Given the description of an element on the screen output the (x, y) to click on. 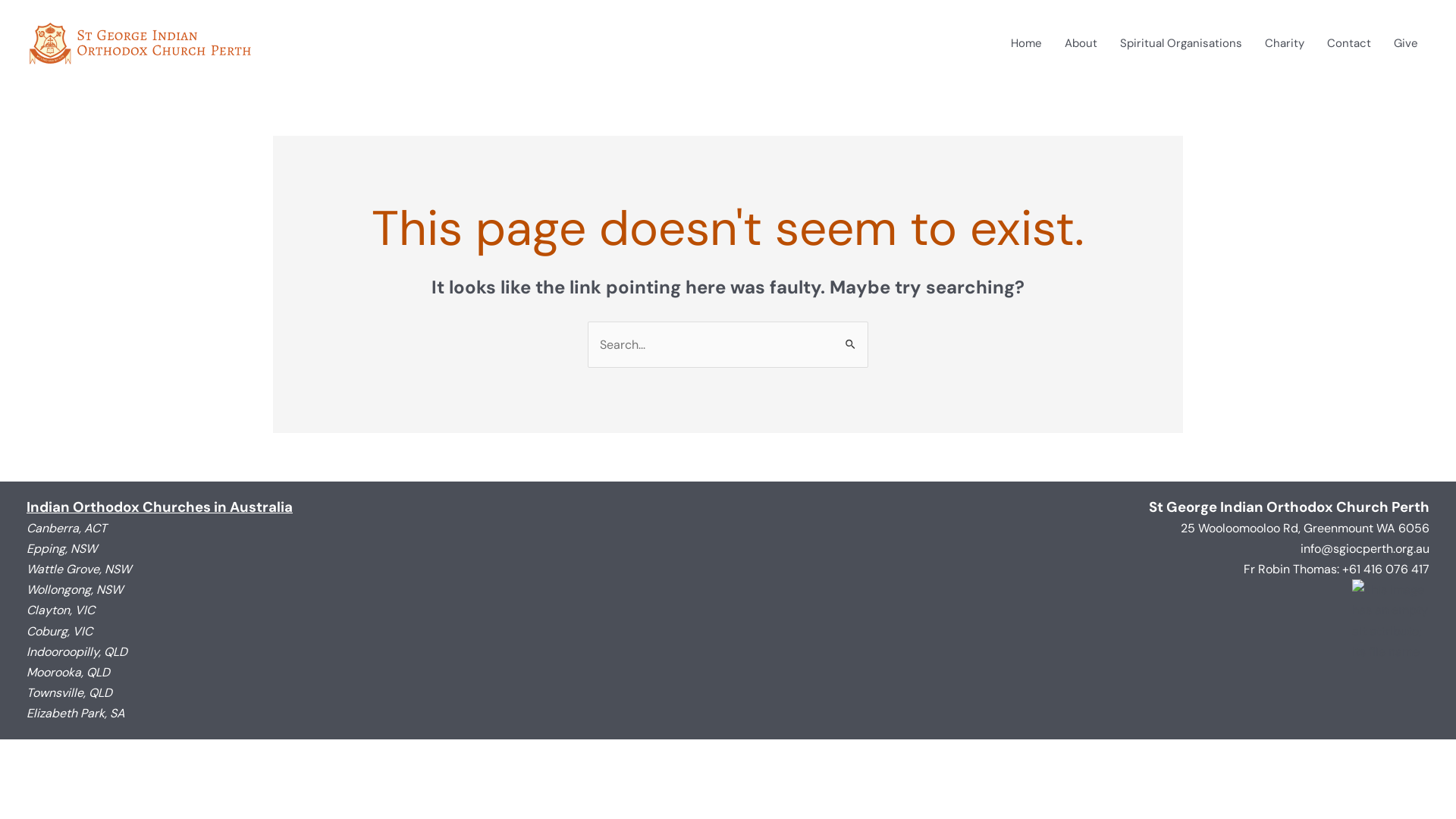
Give Element type: text (1405, 42)
Canberra, ACT Element type: text (66, 528)
Wollongong, NSW Element type: text (74, 589)
Wattle Grove, NSW Element type: text (78, 569)
Townsville, QLD Element type: text (69, 692)
Elizabeth Park, SA Element type: text (75, 713)
Indooroopilly, QLD Element type: text (76, 651)
Moorooka, QLD Element type: text (67, 672)
Clayton, VIC Element type: text (60, 610)
Coburg, VIC Element type: text (59, 631)
Home Element type: text (1026, 42)
Search Element type: text (851, 336)
Spiritual Organisations Element type: text (1180, 42)
Charity Element type: text (1284, 42)
Contact Element type: text (1348, 42)
About Element type: text (1080, 42)
Epping, NSW Element type: text (61, 548)
